Given the description of an element on the screen output the (x, y) to click on. 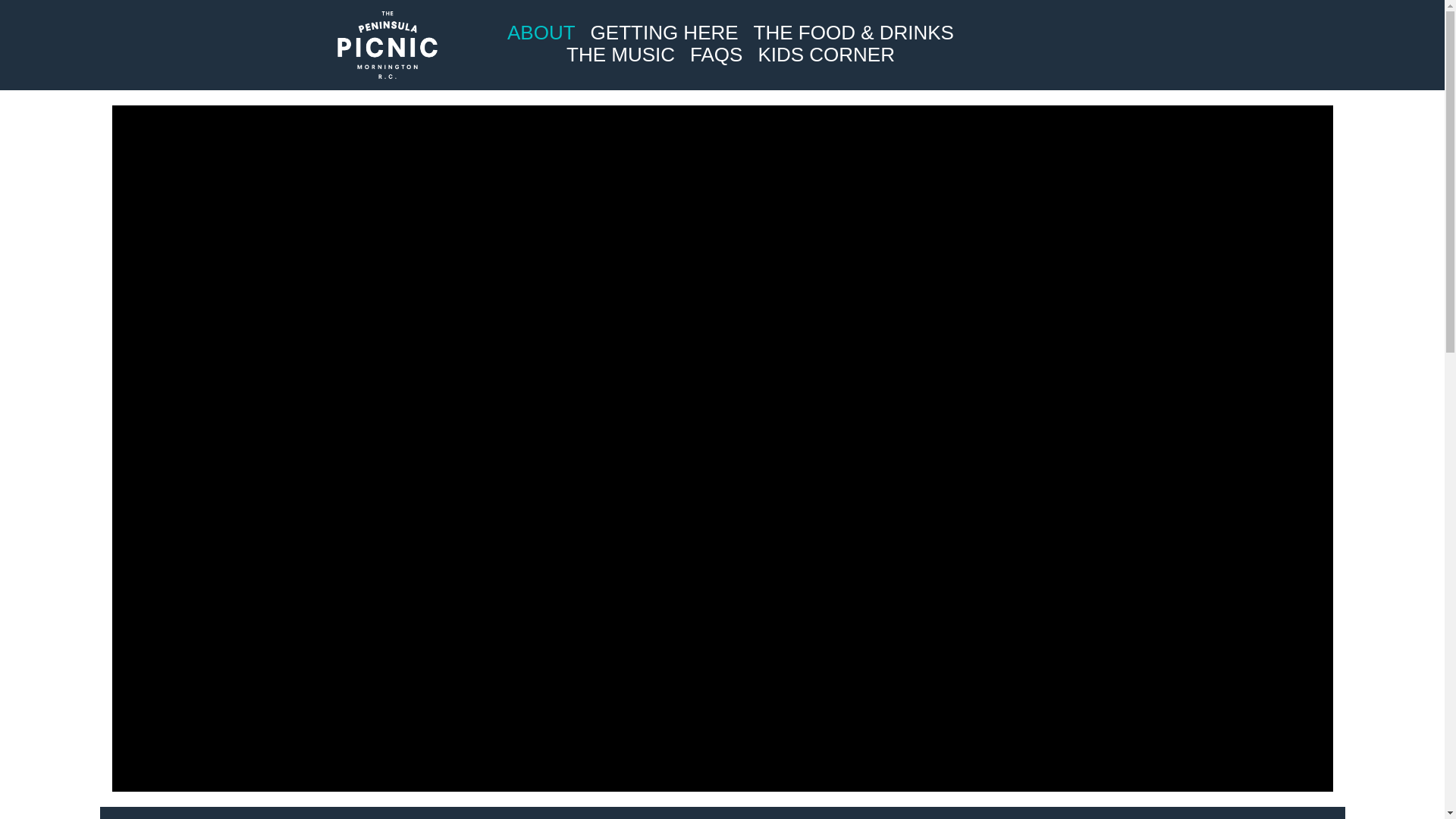
FAQS (716, 54)
KIDS CORNER (826, 54)
GETTING HERE (664, 32)
ABOUT (540, 32)
THE MUSIC (620, 54)
